Given the description of an element on the screen output the (x, y) to click on. 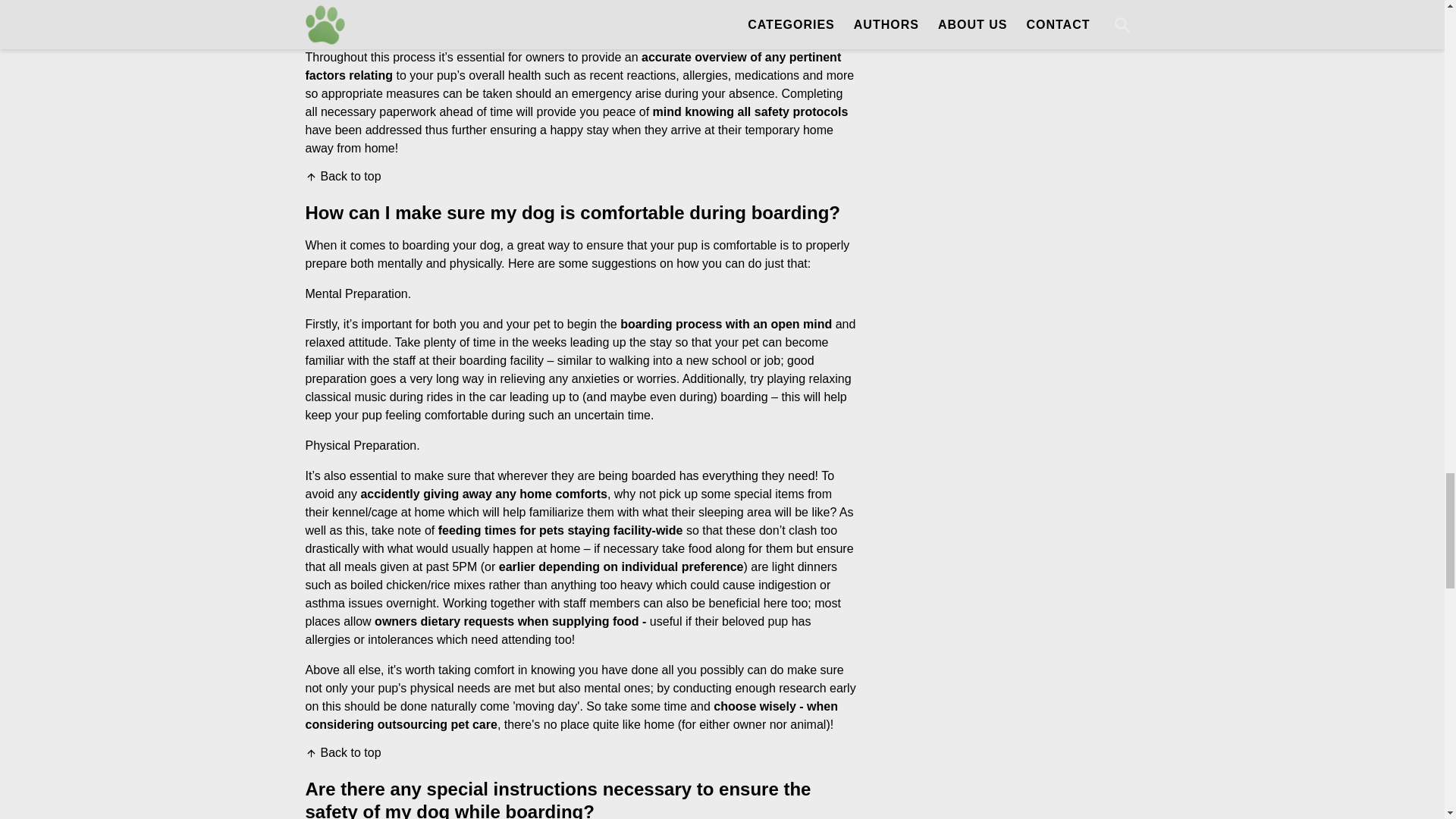
Back to top (342, 176)
